Given the description of an element on the screen output the (x, y) to click on. 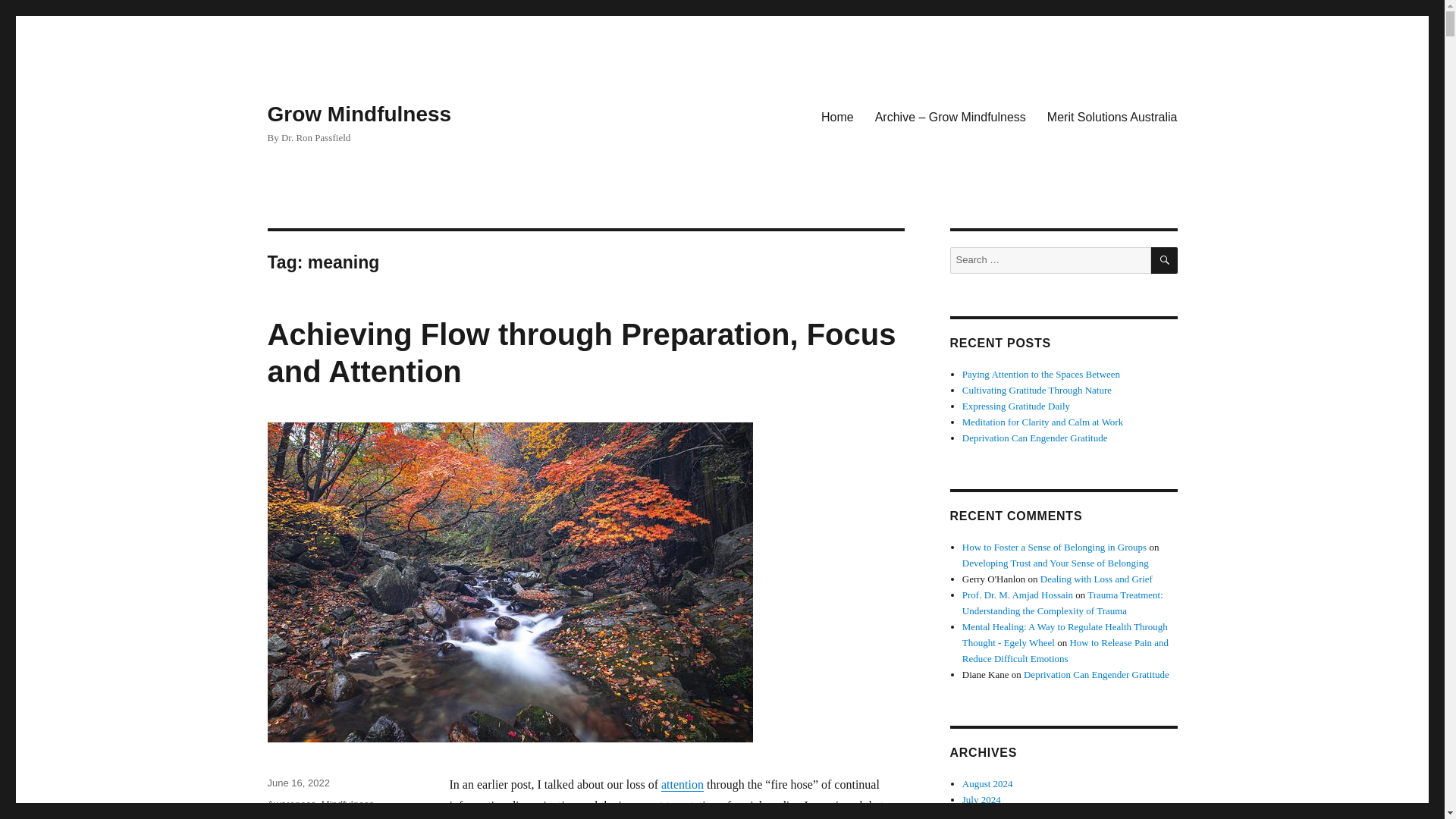
Home (837, 116)
Achieving Flow through Preparation, Focus and Attention (580, 352)
attention (682, 784)
Merit Solutions Australia (1112, 116)
Awareness (290, 803)
Mindfulness Practice (320, 808)
Grow Mindfulness (358, 114)
June 16, 2022 (297, 782)
